Given the description of an element on the screen output the (x, y) to click on. 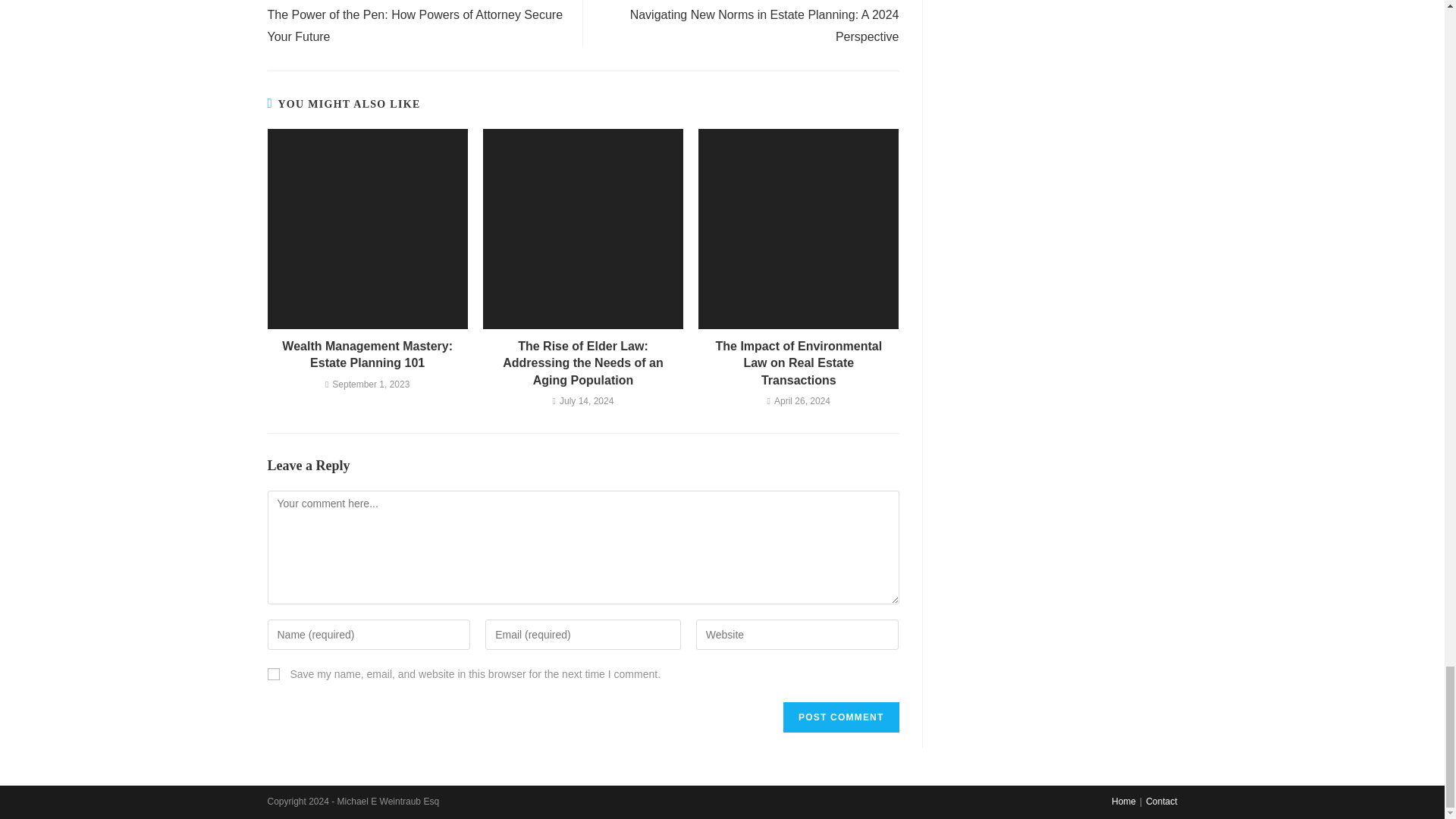
yes (272, 674)
The Impact of Environmental Law on Real Estate Transactions (798, 363)
Wealth Management Mastery: Estate Planning 101 (367, 355)
The Impact of Environmental Law on Real Estate Transactions (798, 363)
Post Comment (840, 716)
Post Comment (840, 716)
Wealth Management Mastery: Estate Planning 101 (367, 355)
